Given the description of an element on the screen output the (x, y) to click on. 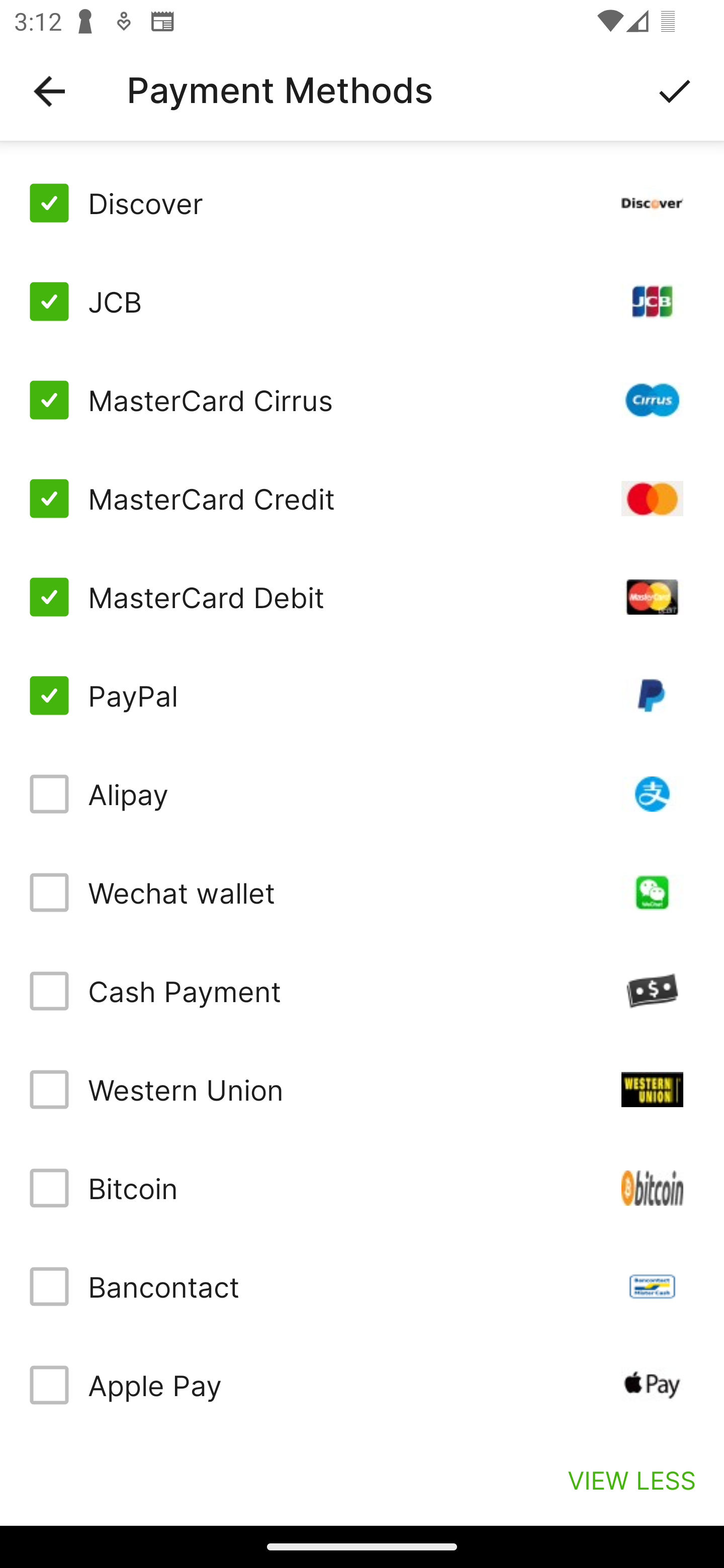
Discover (362, 202)
JCB (362, 301)
MasterCard Cirrus (362, 400)
MasterCard Credit (362, 498)
MasterCard Debit (362, 596)
PayPal (362, 695)
Alipay (362, 793)
Wechat wallet (362, 892)
Cash Payment (362, 990)
Western Union (362, 1088)
Bitcoin (362, 1187)
Bancontact (362, 1286)
Apple Pay (362, 1384)
VIEW LESS (631, 1479)
